Given the description of an element on the screen output the (x, y) to click on. 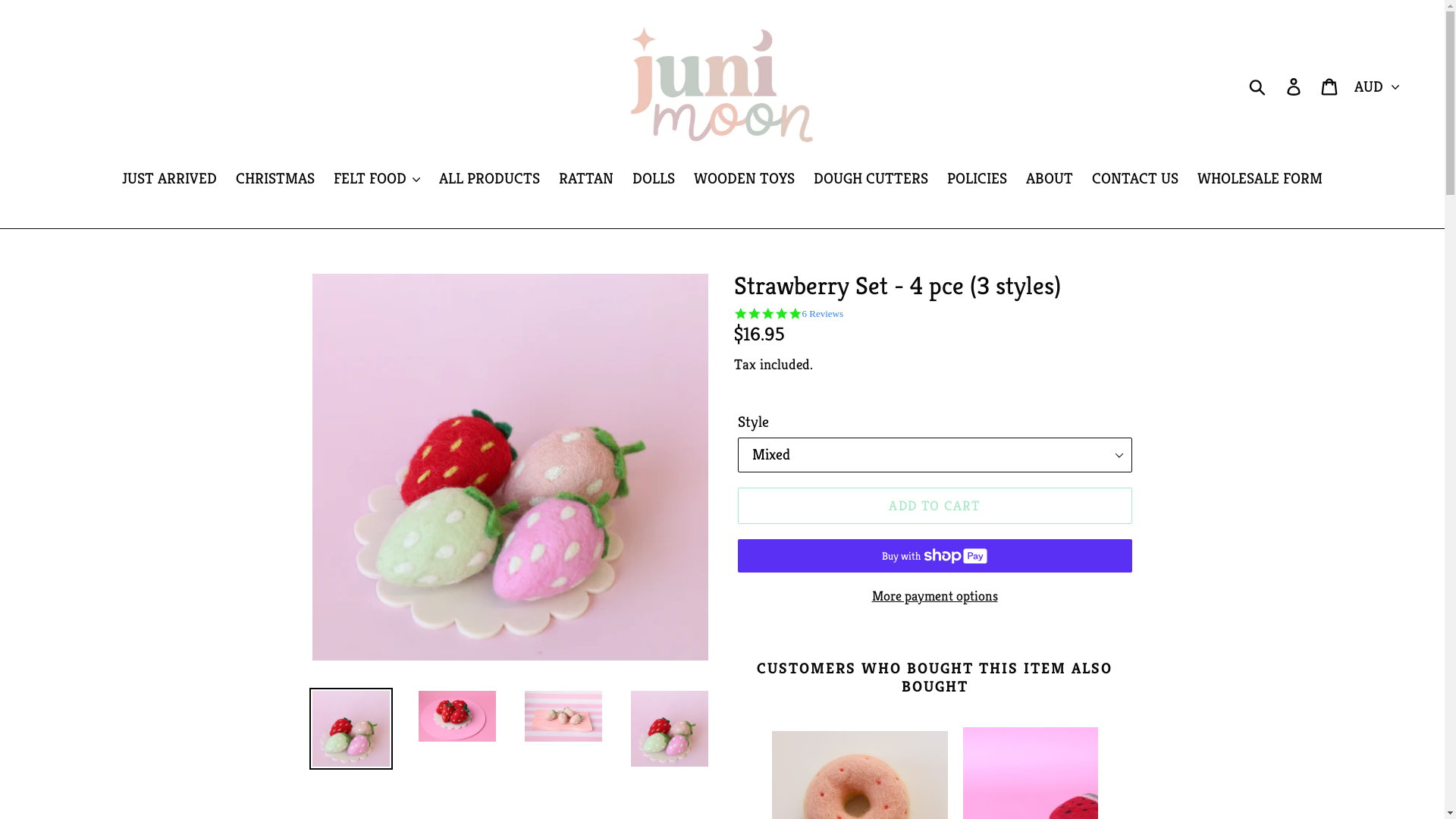
POLICIES Element type: text (976, 179)
Cart Element type: text (1330, 85)
WOODEN TOYS Element type: text (744, 179)
JUST ARRIVED Element type: text (169, 179)
ALL PRODUCTS Element type: text (489, 179)
More payment options Element type: text (934, 595)
DOLLS Element type: text (653, 179)
ADD TO CART Element type: text (934, 505)
ABOUT Element type: text (1049, 179)
CONTACT US Element type: text (1135, 179)
6 Reviews Element type: text (823, 313)
RATTAN Element type: text (586, 179)
Log in Element type: text (1294, 85)
DOUGH CUTTERS Element type: text (870, 179)
WHOLESALE FORM Element type: text (1259, 179)
Submit Element type: text (1258, 85)
CHRISTMAS Element type: text (275, 179)
